Given the description of an element on the screen output the (x, y) to click on. 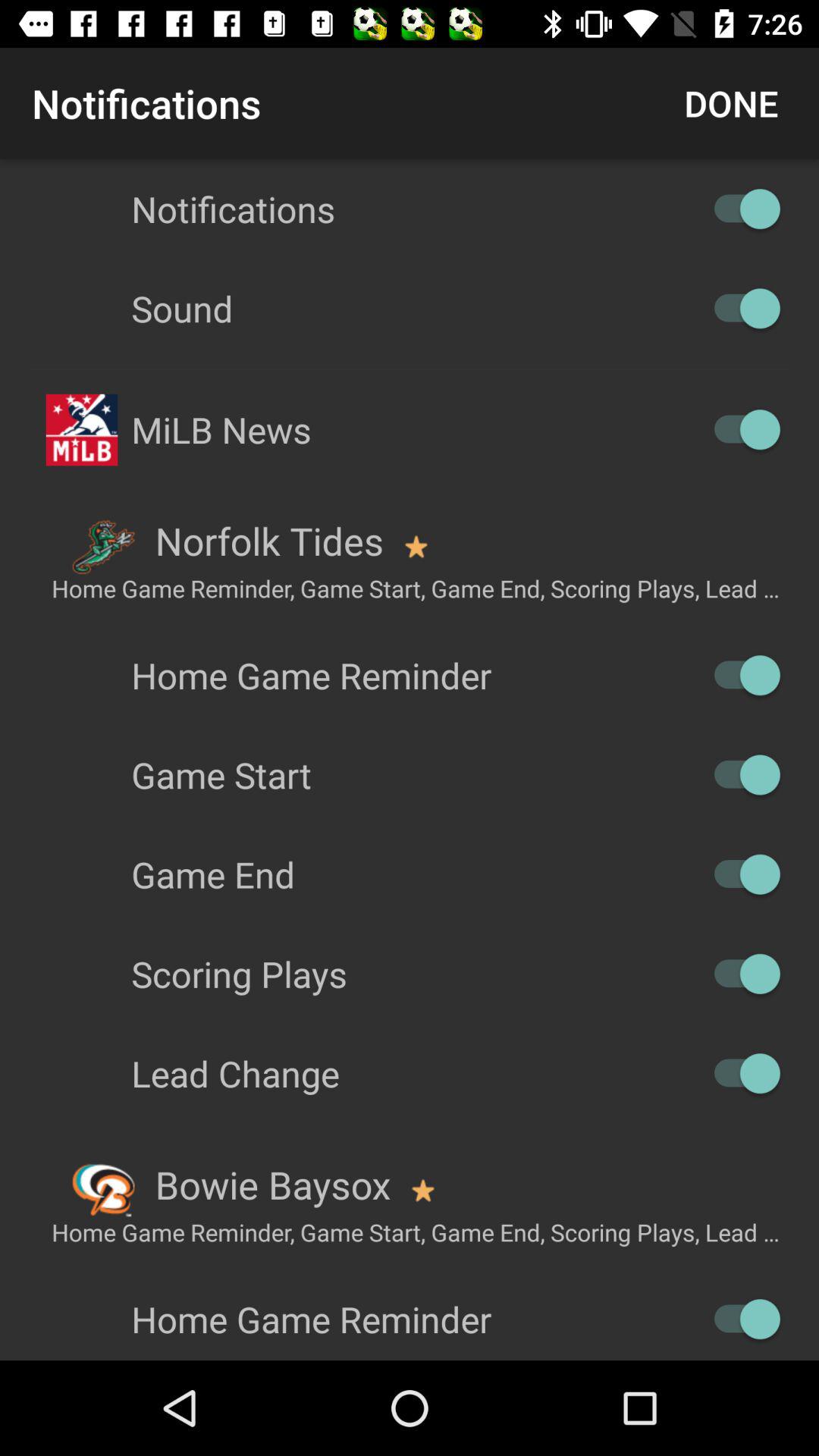
select icon to the right of the notifications item (731, 103)
